Given the description of an element on the screen output the (x, y) to click on. 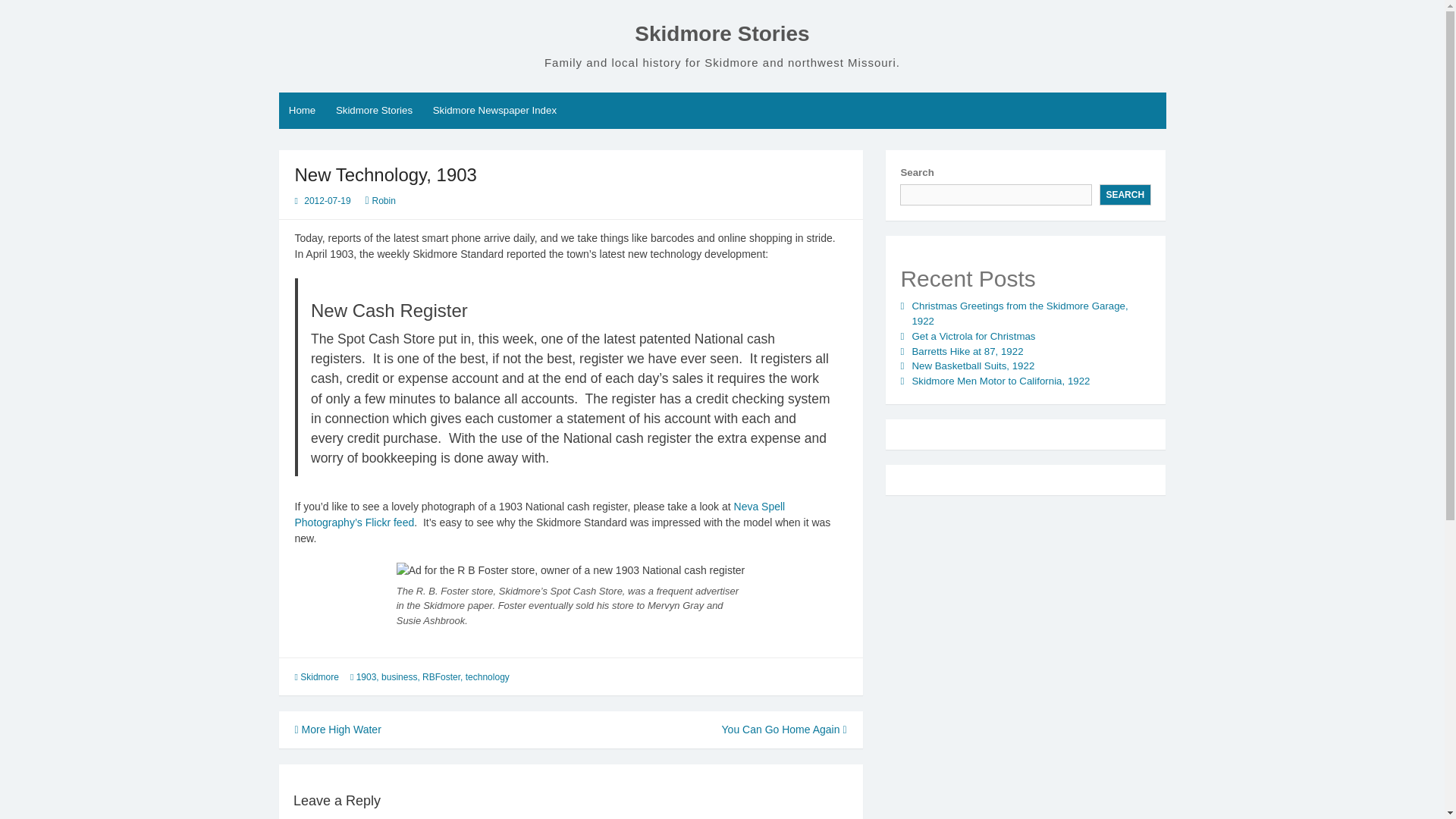
New Basketball Suits, 1922 (972, 365)
2012-07-19 (327, 200)
Barretts Hike at 87, 1922 (967, 351)
Home (302, 110)
RBFoster (441, 676)
1903 (366, 676)
More High Water (337, 729)
technology (487, 676)
Robin (384, 200)
business (398, 676)
Skidmore Stories (721, 33)
Skidmore (319, 676)
Christmas Greetings from the Skidmore Garage, 1922 (1018, 313)
Skidmore Newspaper Index (494, 110)
